Given the description of an element on the screen output the (x, y) to click on. 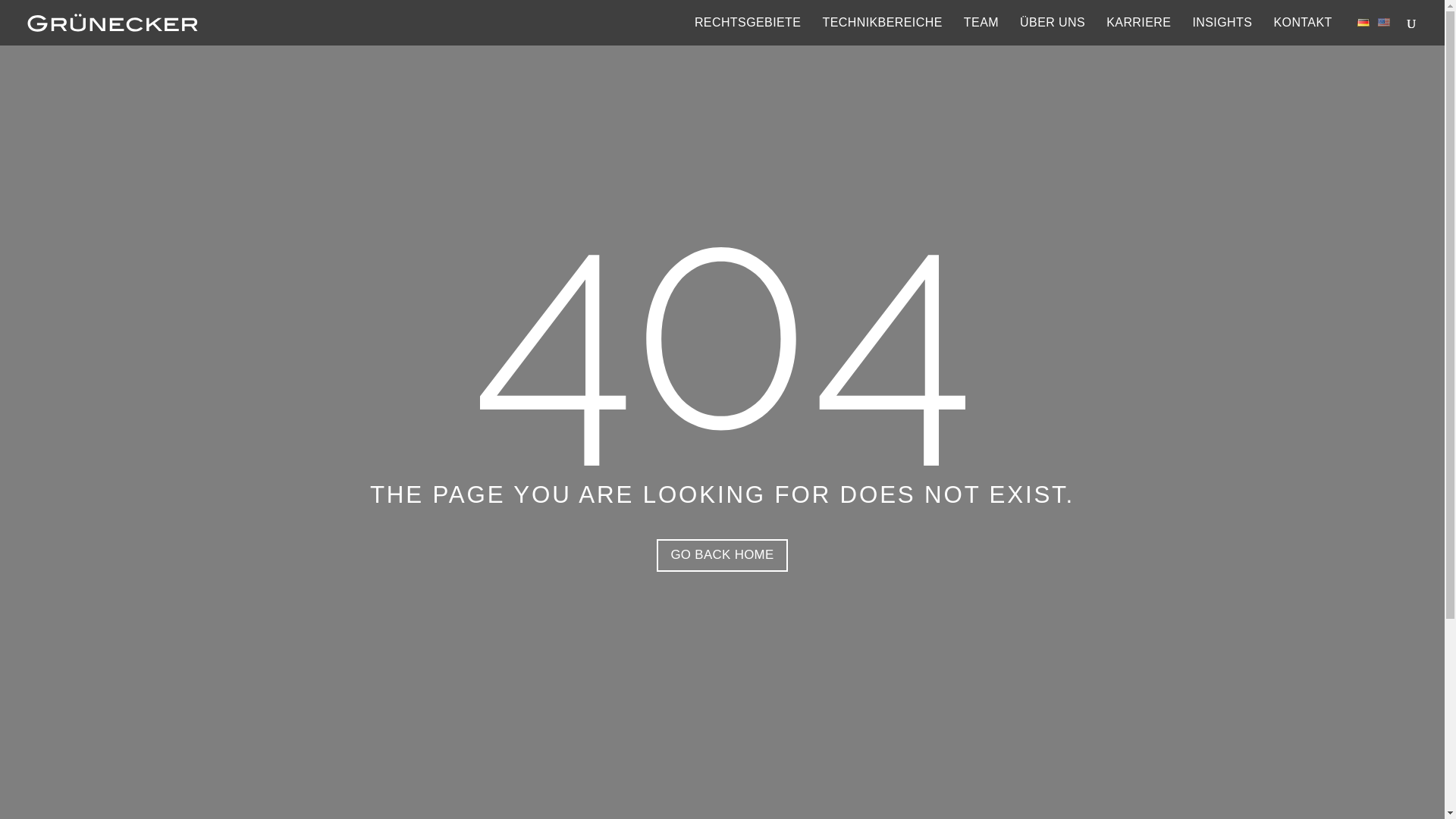
GO BACK HOME (722, 554)
INSIGHTS (1222, 31)
TECHNIKBEREICHE (882, 31)
TEAM (980, 31)
KARRIERE (1138, 31)
grunecker-404 (721, 356)
KONTAKT (1302, 31)
RECHTSGEBIETE (748, 31)
